Given the description of an element on the screen output the (x, y) to click on. 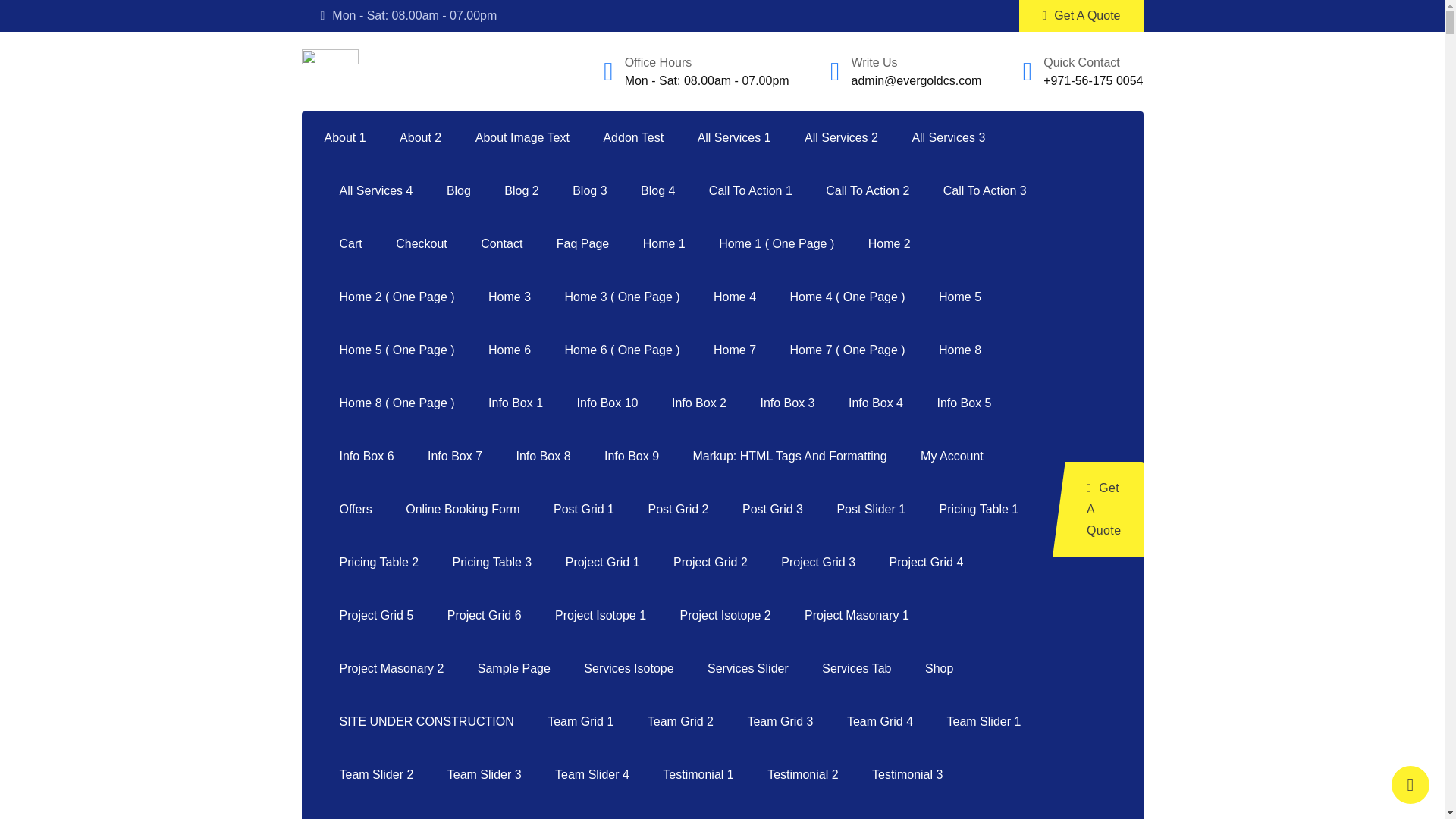
All Services 2 (841, 137)
Blog 4 (658, 190)
Home 3 (509, 297)
Call To Action 1 (751, 190)
All Services 4 (376, 190)
Blog (458, 190)
Blog 2 (521, 190)
Home 2 (889, 244)
Call To Action 3 (985, 190)
Home 5 (959, 297)
